Given the description of an element on the screen output the (x, y) to click on. 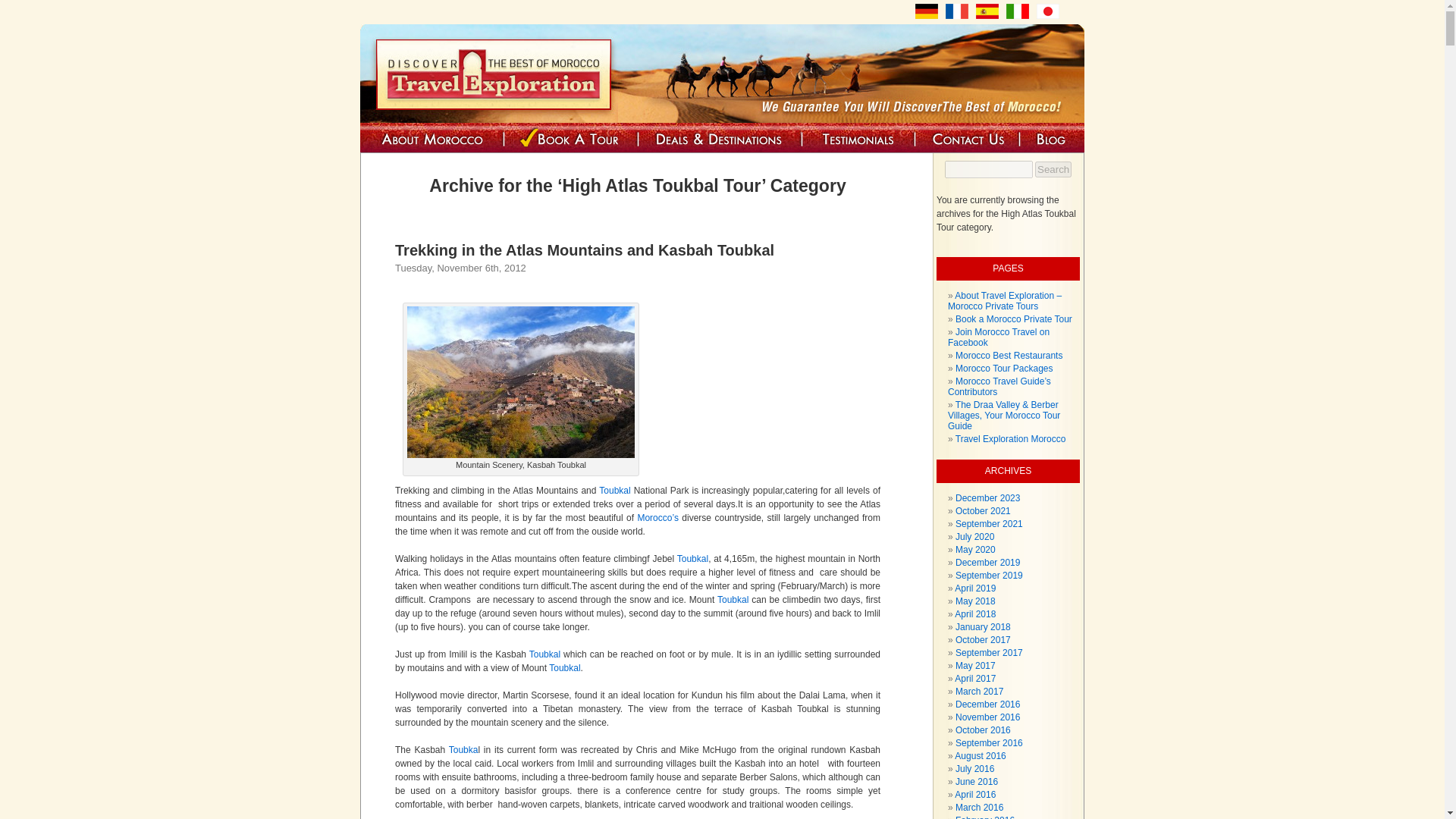
High-Atlas-Toubkal (520, 381)
Toubkal (544, 654)
Toubka (463, 749)
Toubkal (563, 667)
Toubkal (692, 558)
Toubkal (615, 490)
